Given the description of an element on the screen output the (x, y) to click on. 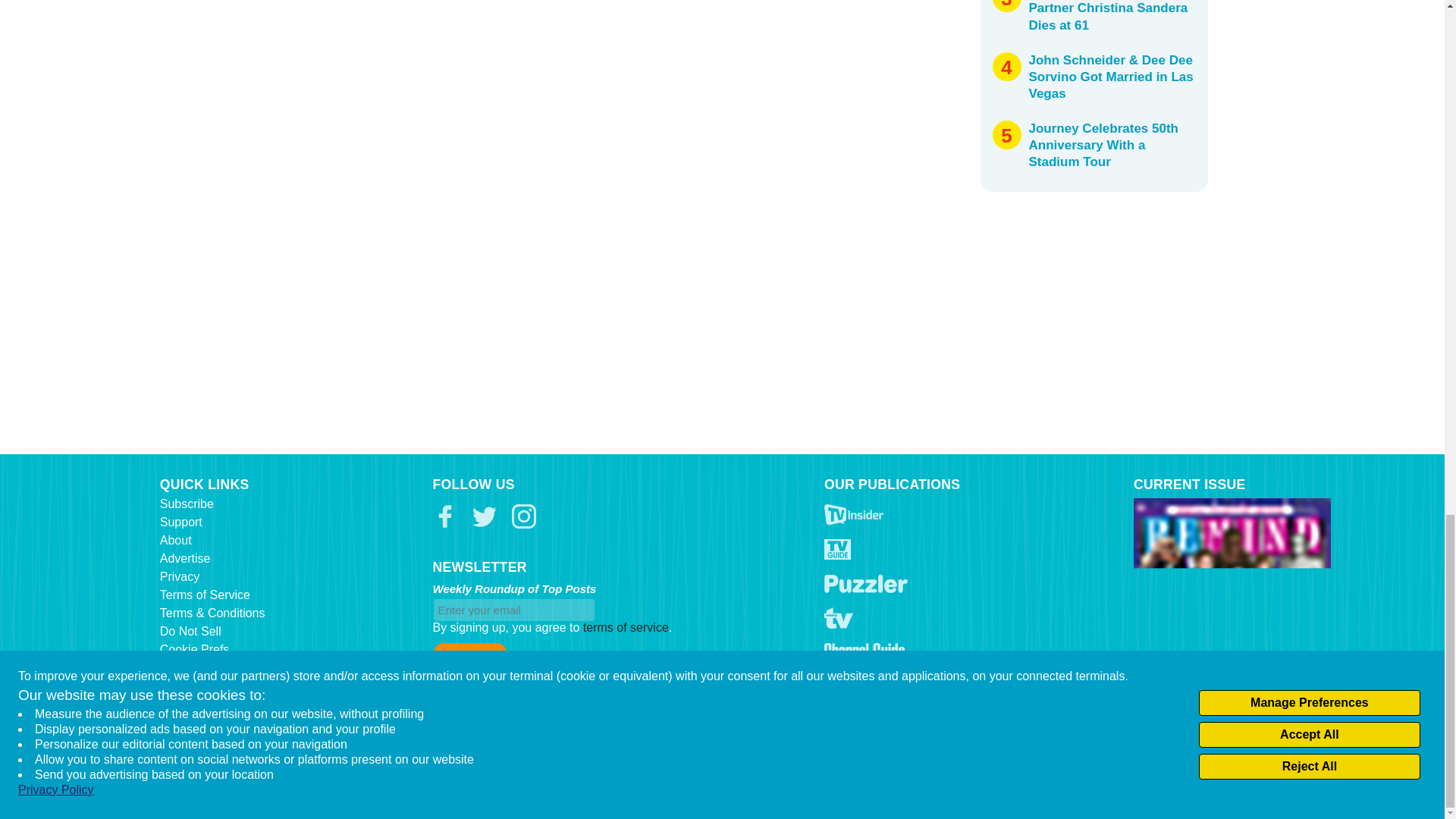
Advertise (185, 558)
Subscribe (187, 503)
Journey Celebrates 50th Anniversary With a Stadium Tour (1102, 144)
Cookie Prefs (195, 649)
Sign Up! (469, 653)
About (176, 540)
Terms of Service (205, 594)
Contact Us (189, 667)
Do Not Sell (190, 631)
Support (181, 521)
Privacy (179, 576)
